Given the description of an element on the screen output the (x, y) to click on. 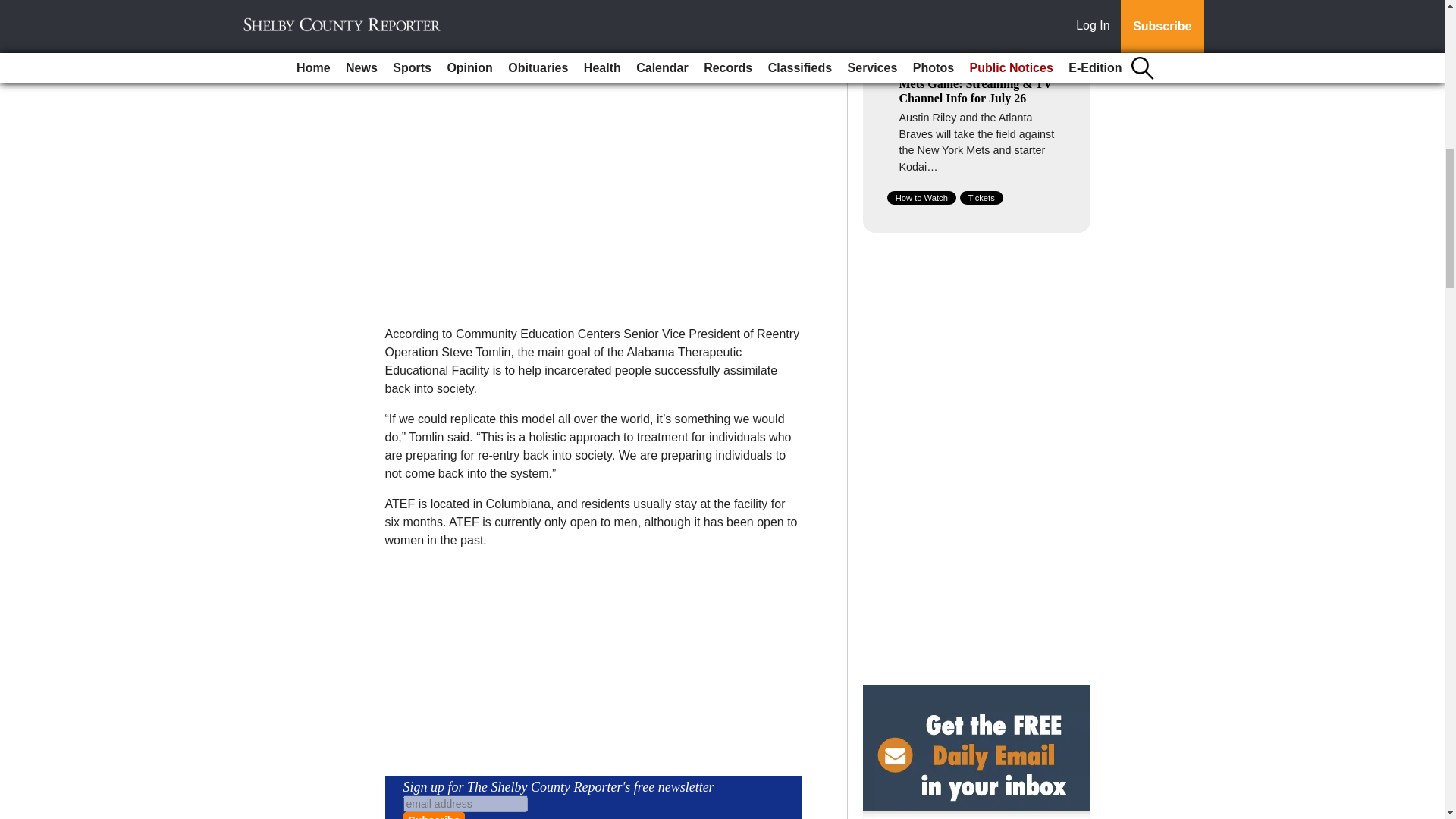
Subscribe (434, 815)
